Given the description of an element on the screen output the (x, y) to click on. 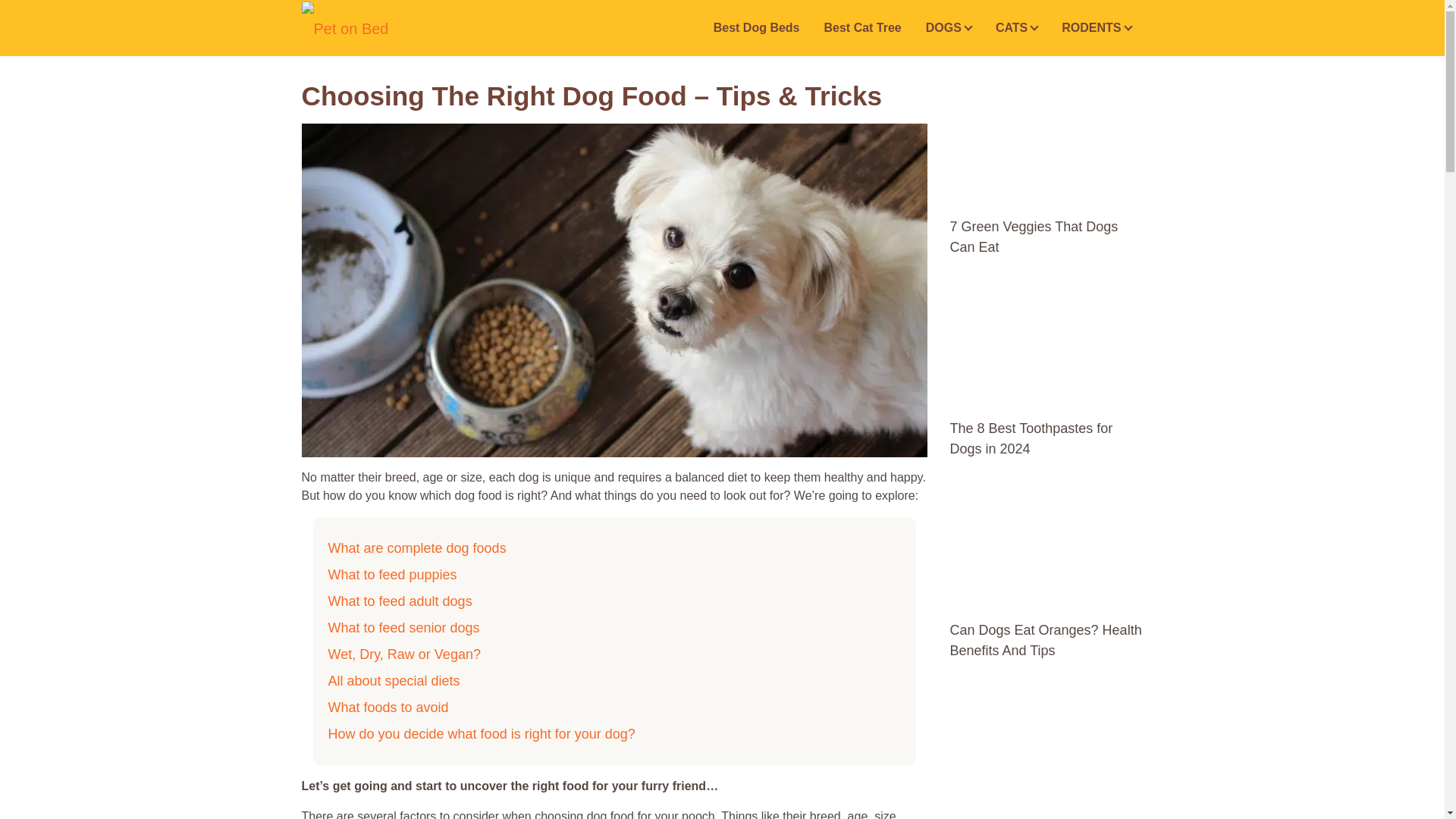
What are complete dog foods (416, 548)
CATS (1016, 27)
What to feed adult dogs (399, 601)
Wet, Dry, Raw or Vegan? (403, 654)
What to feed puppies (392, 574)
DOGS (949, 27)
Best Cat Tree (861, 27)
What to feed senior dogs (403, 627)
RODENTS (1095, 27)
All about special diets (393, 680)
Best Dog Beds (756, 27)
